Given the description of an element on the screen output the (x, y) to click on. 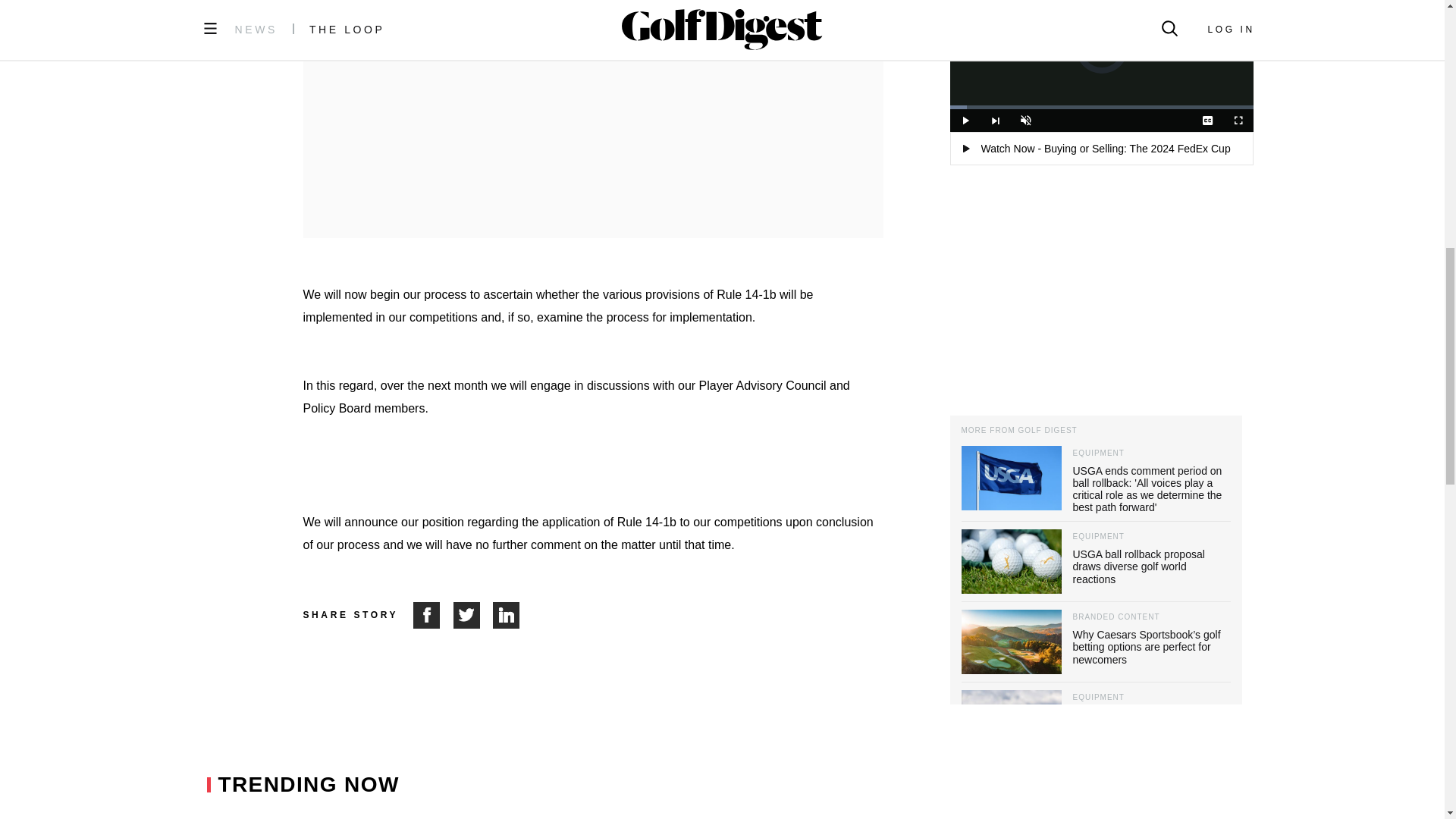
3rd party ad content (593, 100)
Share on LinkedIn (506, 614)
Share on Facebook (432, 614)
Share on Twitter (472, 614)
